Given the description of an element on the screen output the (x, y) to click on. 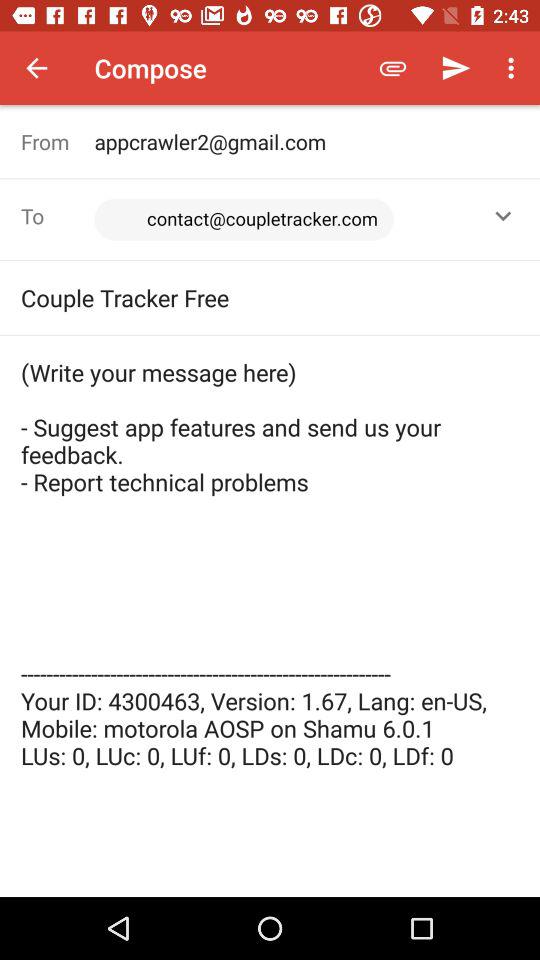
open the item next to the <contact@coupletracker.com>,  icon (503, 215)
